Given the description of an element on the screen output the (x, y) to click on. 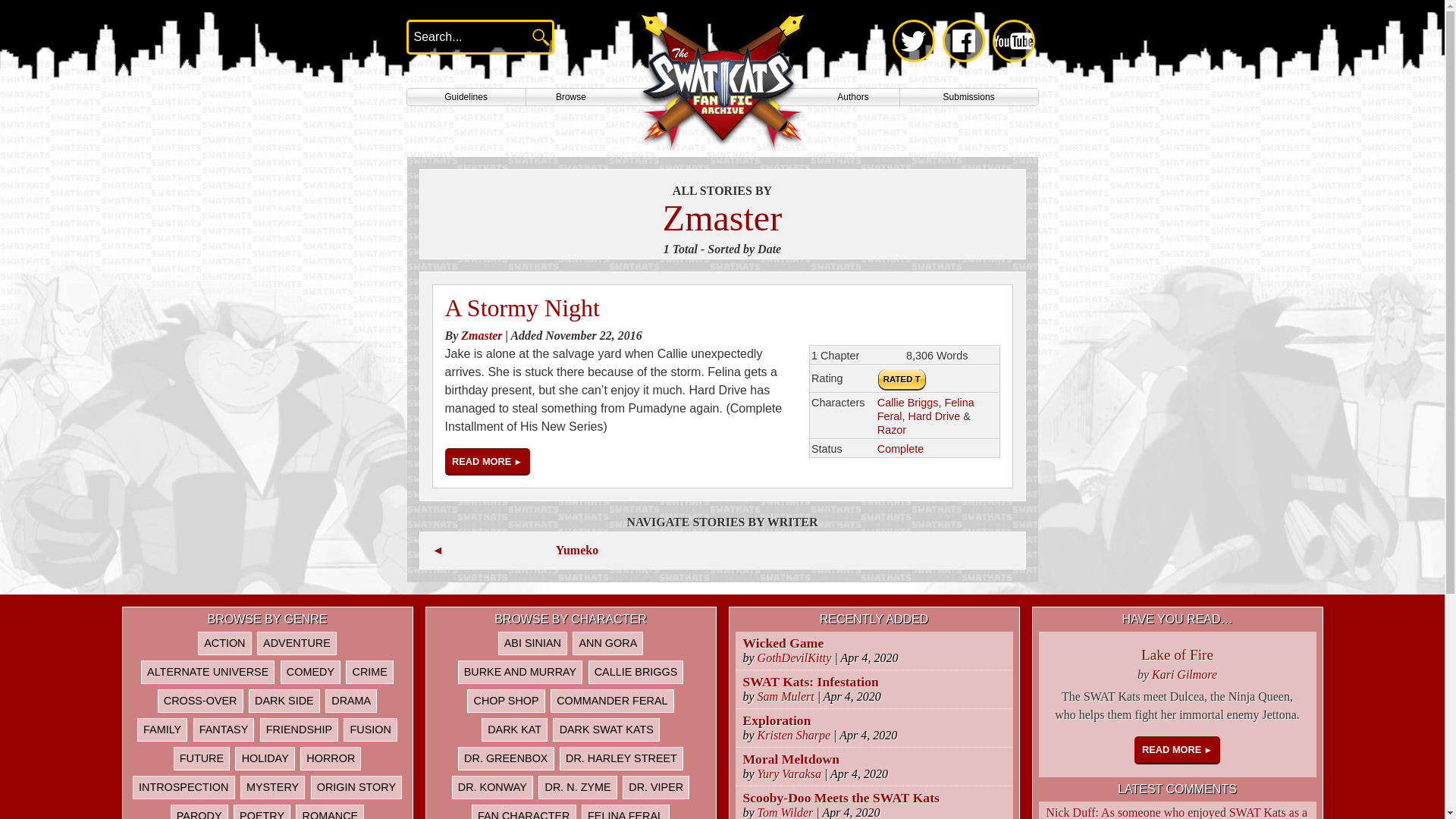
YouTube (1012, 40)
Browse (570, 96)
Callie Briggs (908, 401)
Browse (570, 96)
A Stormy Night (521, 307)
Twitter (912, 40)
YouTube (1012, 40)
Facebook (963, 40)
Authors (852, 96)
Search... (459, 37)
